Given the description of an element on the screen output the (x, y) to click on. 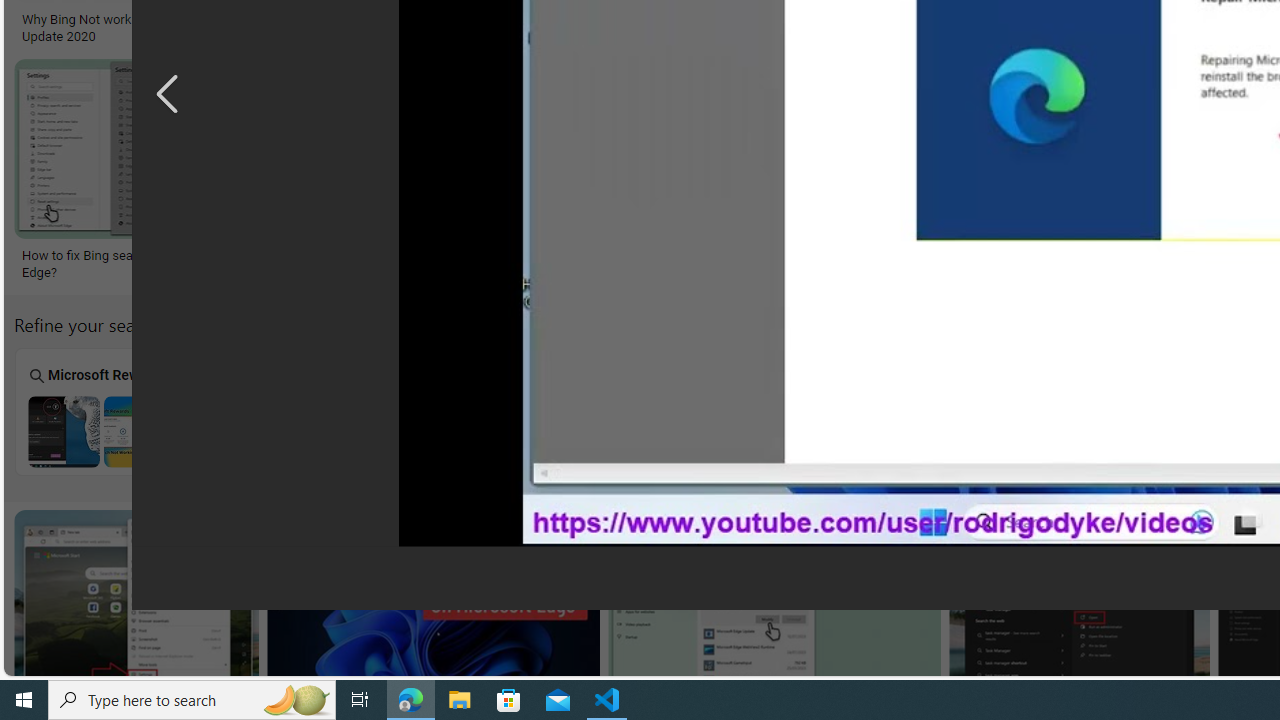
Bing Tablet Search Not Working Tablet (641, 411)
Why Bing Not working on windows 10? Update 2020 (135, 27)
Web For (1181, 411)
Bing Search Box Not Working (462, 431)
Bing Search Points Not Working (821, 431)
Microsoft Rewards Bing Search Not Working (102, 431)
Box (461, 411)
Bing Search the Web for Image Not Working (1181, 431)
